Given the description of an element on the screen output the (x, y) to click on. 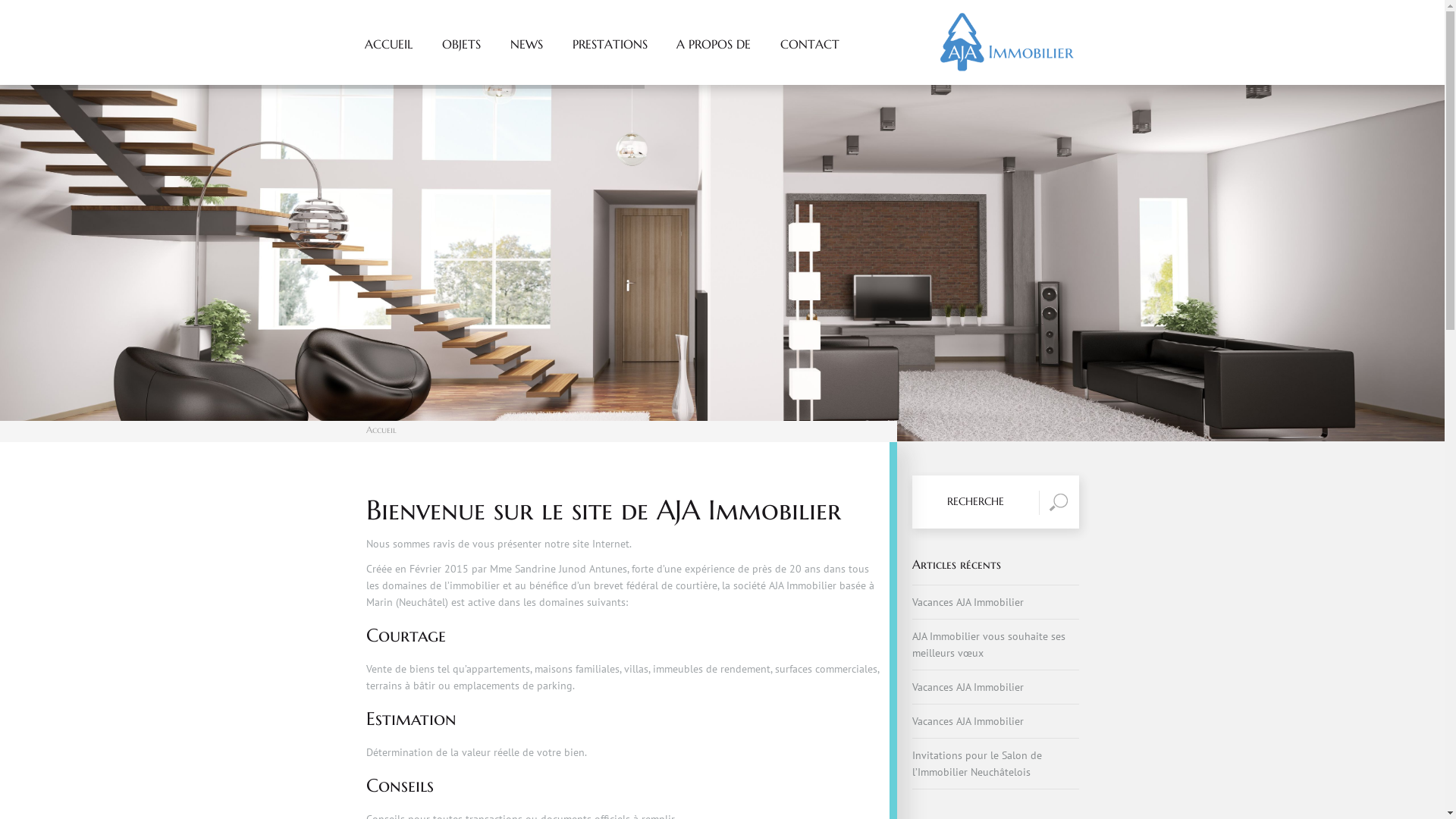
A PROPOS DE Element type: text (713, 60)
Vacances AJA Immobilier Element type: text (966, 721)
NEWS Element type: text (526, 60)
OBJETS Element type: text (461, 60)
Vacances AJA Immobilier Element type: text (966, 601)
ACCUEIL Element type: text (388, 60)
PRESTATIONS Element type: text (609, 60)
Accueil Element type: text (380, 429)
Vacances AJA Immobilier Element type: text (966, 686)
CONTACT Element type: text (809, 60)
